Given the description of an element on the screen output the (x, y) to click on. 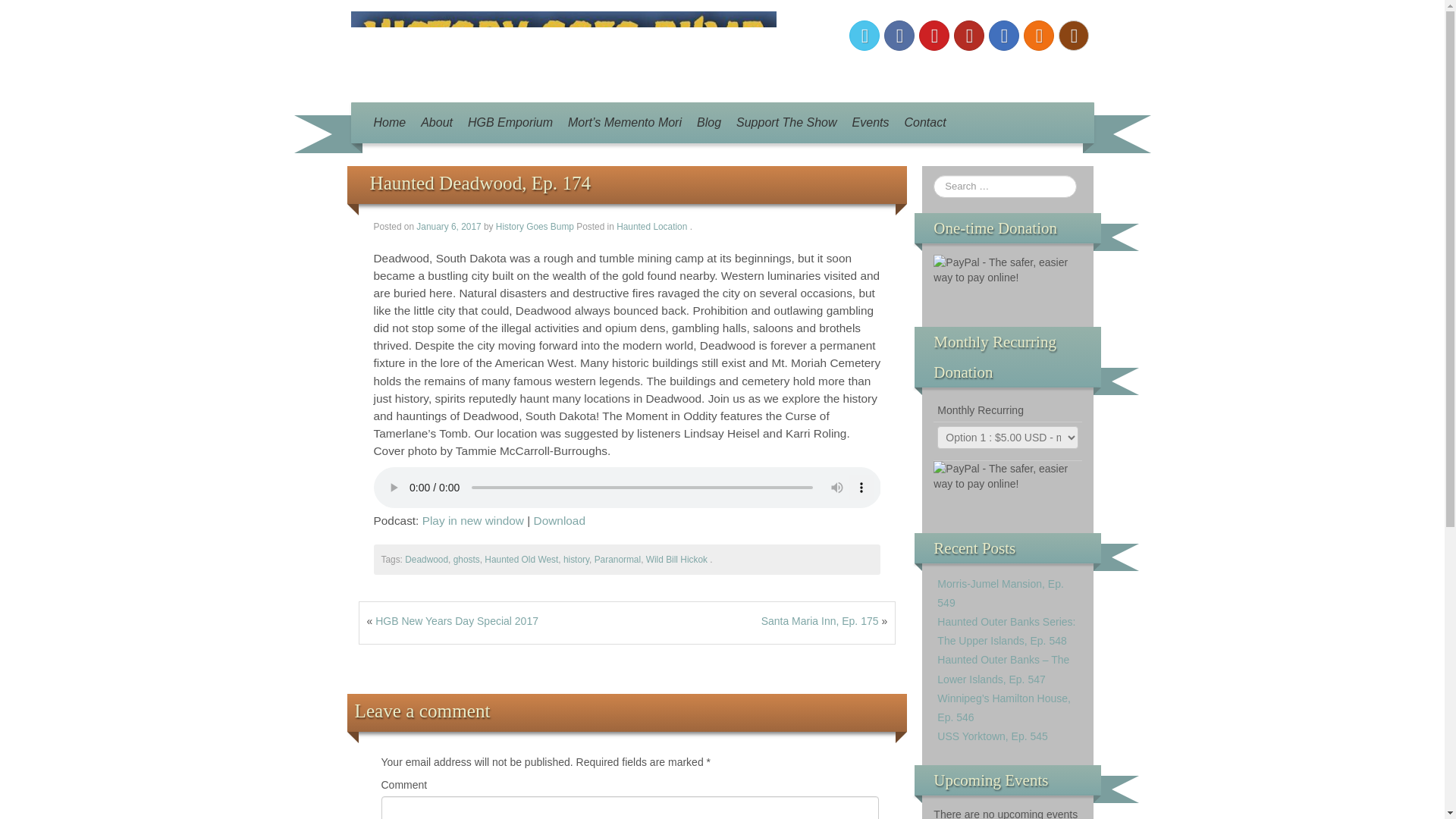
History Goes Bump (563, 50)
Contact (924, 122)
ghosts (466, 559)
Blog (708, 122)
Haunted Old West (520, 559)
7:29 am (449, 226)
Permalink to Haunted Deadwood, Ep. 174 (480, 182)
HGB New Years Day Special 2017 (456, 621)
Wild Bill Hickok (676, 559)
Morris-Jumel Mansion, Ep. 549 (1000, 593)
History Goes Bump Facebook (898, 35)
Deadwood (426, 559)
January 6, 2017 (449, 226)
Events (870, 122)
History Goes Bump Pinterest (933, 35)
